Given the description of an element on the screen output the (x, y) to click on. 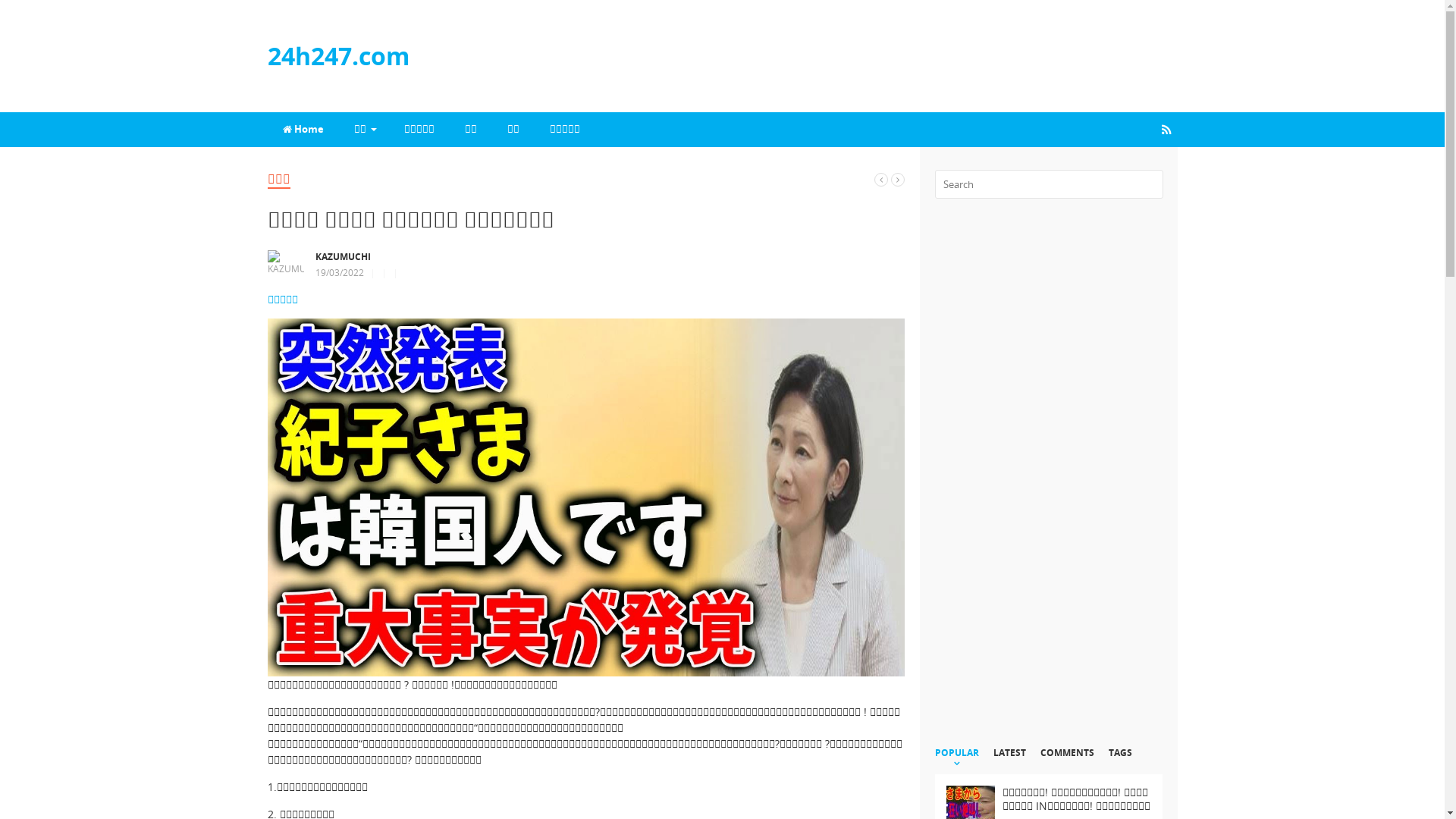
KAZUMUCHI Element type: text (344, 256)
TAGS Element type: text (1120, 759)
Advertisement Element type: hover (1047, 480)
POPULAR Element type: text (956, 759)
Home Element type: text (302, 129)
LATEST Element type: text (1009, 759)
COMMENTS Element type: text (1067, 759)
24h247.com Element type: text (337, 55)
